Given the description of an element on the screen output the (x, y) to click on. 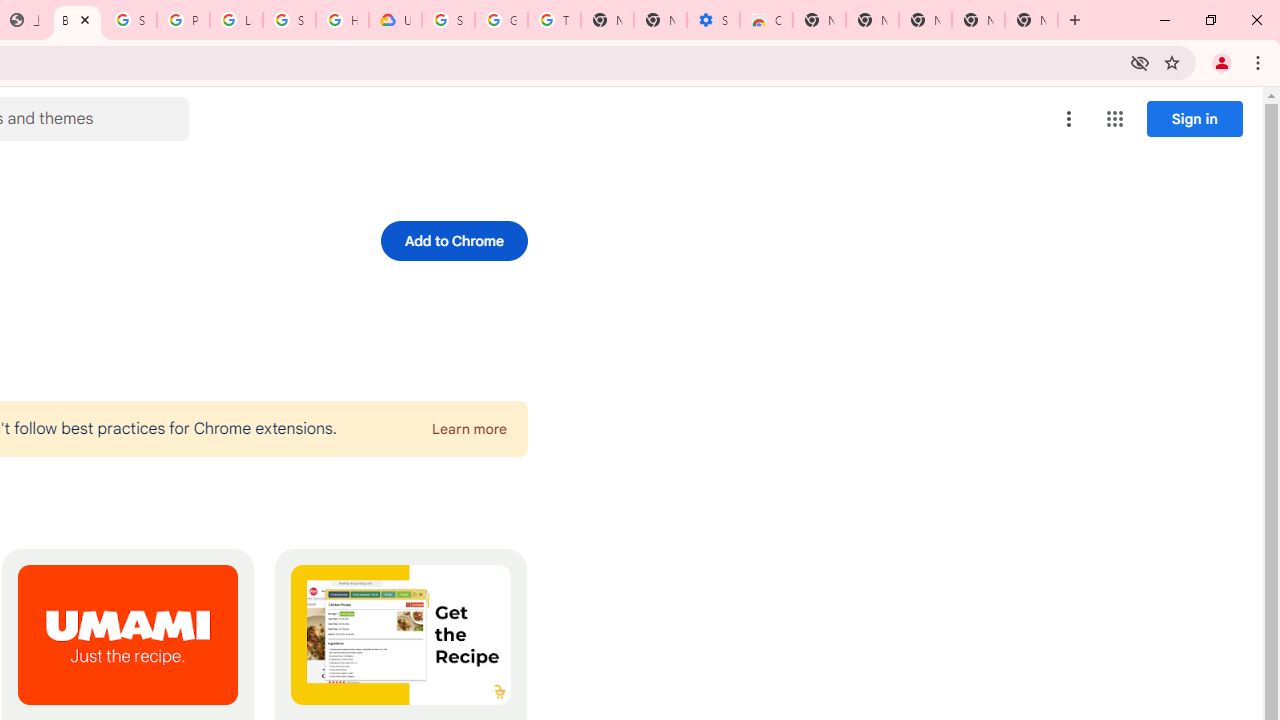
Add to Chrome (453, 240)
Sign in - Google Accounts (130, 20)
Sign in - Google Accounts (448, 20)
More options menu (1069, 118)
Chrome Web Store - Accessibility extensions (766, 20)
New Tab (1031, 20)
